Given the description of an element on the screen output the (x, y) to click on. 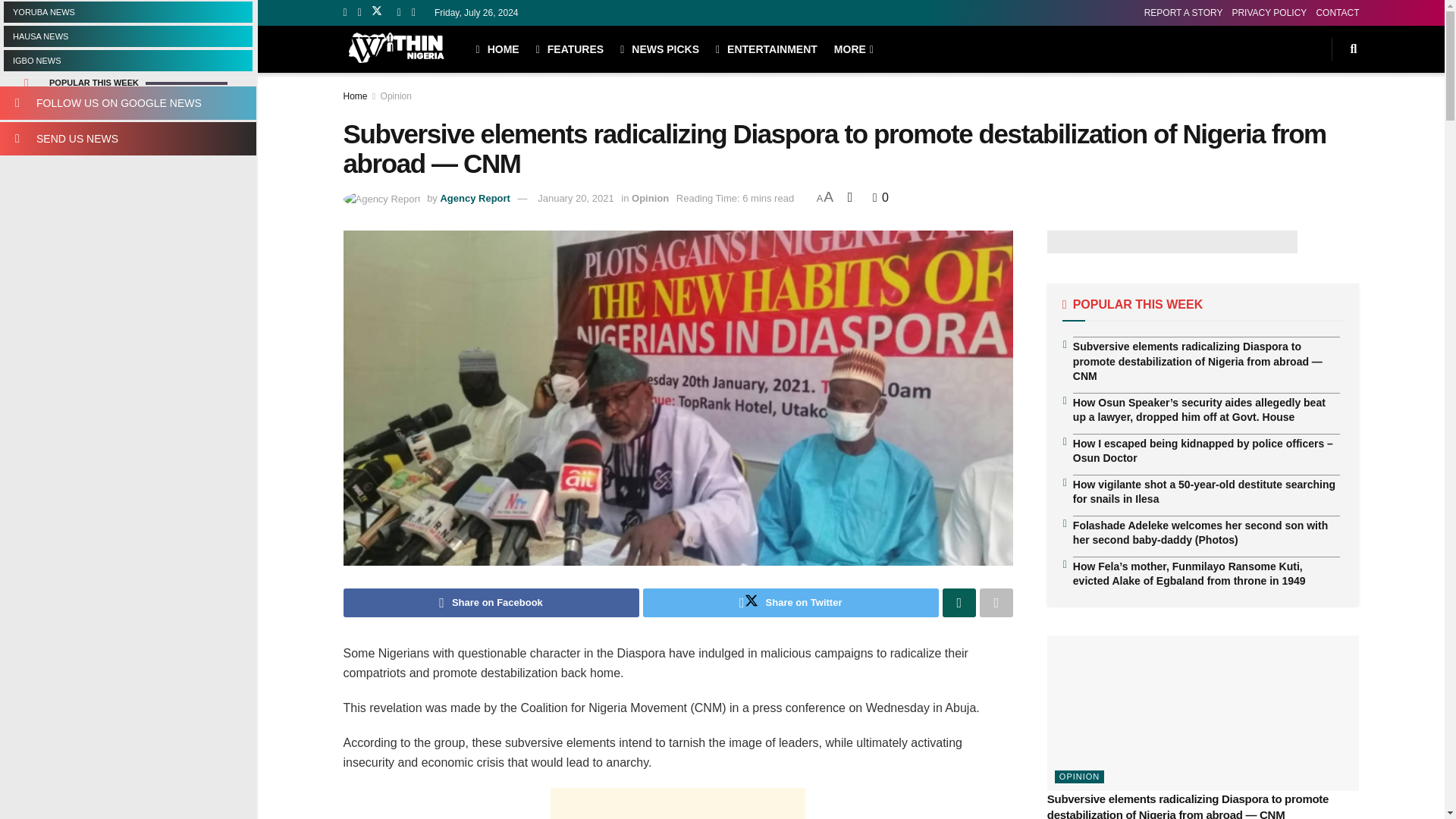
HAUSA NEWS (127, 35)
HAUSA NEWS (127, 35)
PRIVACY POLICY (1268, 12)
SEND NEWS TO WITHIN NIGERIA (128, 138)
YORUBA NEWS (127, 11)
REPORT A STORY (1183, 12)
WITHIN NIGERIA ON GOOGLE NEWS (128, 102)
HOME (497, 48)
FOLLOW US ON GOOGLE NEWS (128, 102)
YORUBA NEWS (127, 11)
SEND US NEWS (128, 138)
ENTERTAINMENT (766, 48)
NEWS PICKS (659, 48)
IGBO NEWS (127, 60)
CONTACT (1337, 12)
